Given the description of an element on the screen output the (x, y) to click on. 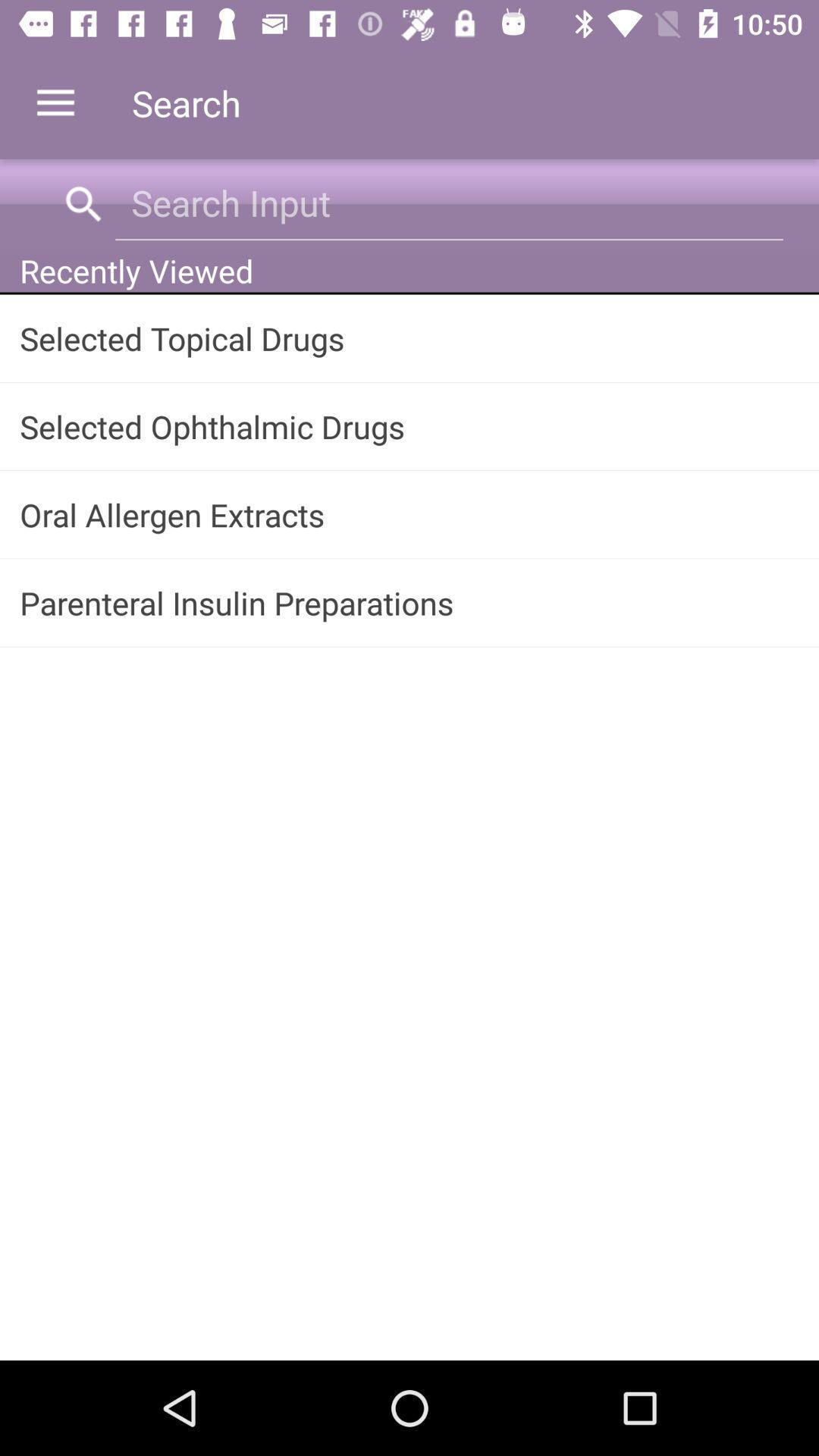
swipe until selected topical drugs item (409, 338)
